Given the description of an element on the screen output the (x, y) to click on. 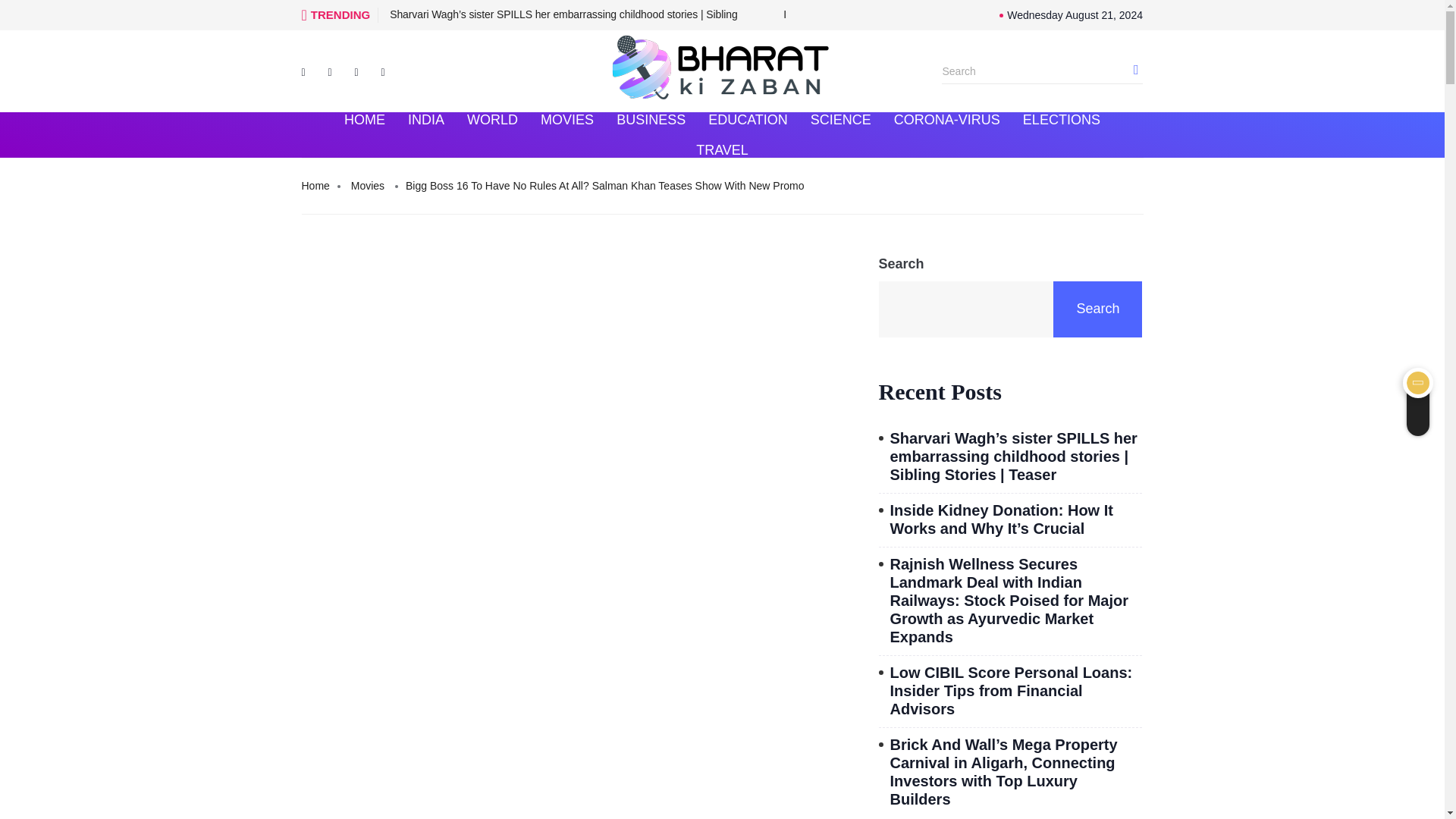
TRAVEL (722, 150)
ELECTIONS (1061, 119)
INDIA (425, 119)
HOME (364, 119)
EDUCATION (748, 119)
MOVIES (567, 119)
Movies (367, 185)
CORONA-VIRUS (946, 119)
SCIENCE (840, 119)
WORLD (492, 119)
